Given the description of an element on the screen output the (x, y) to click on. 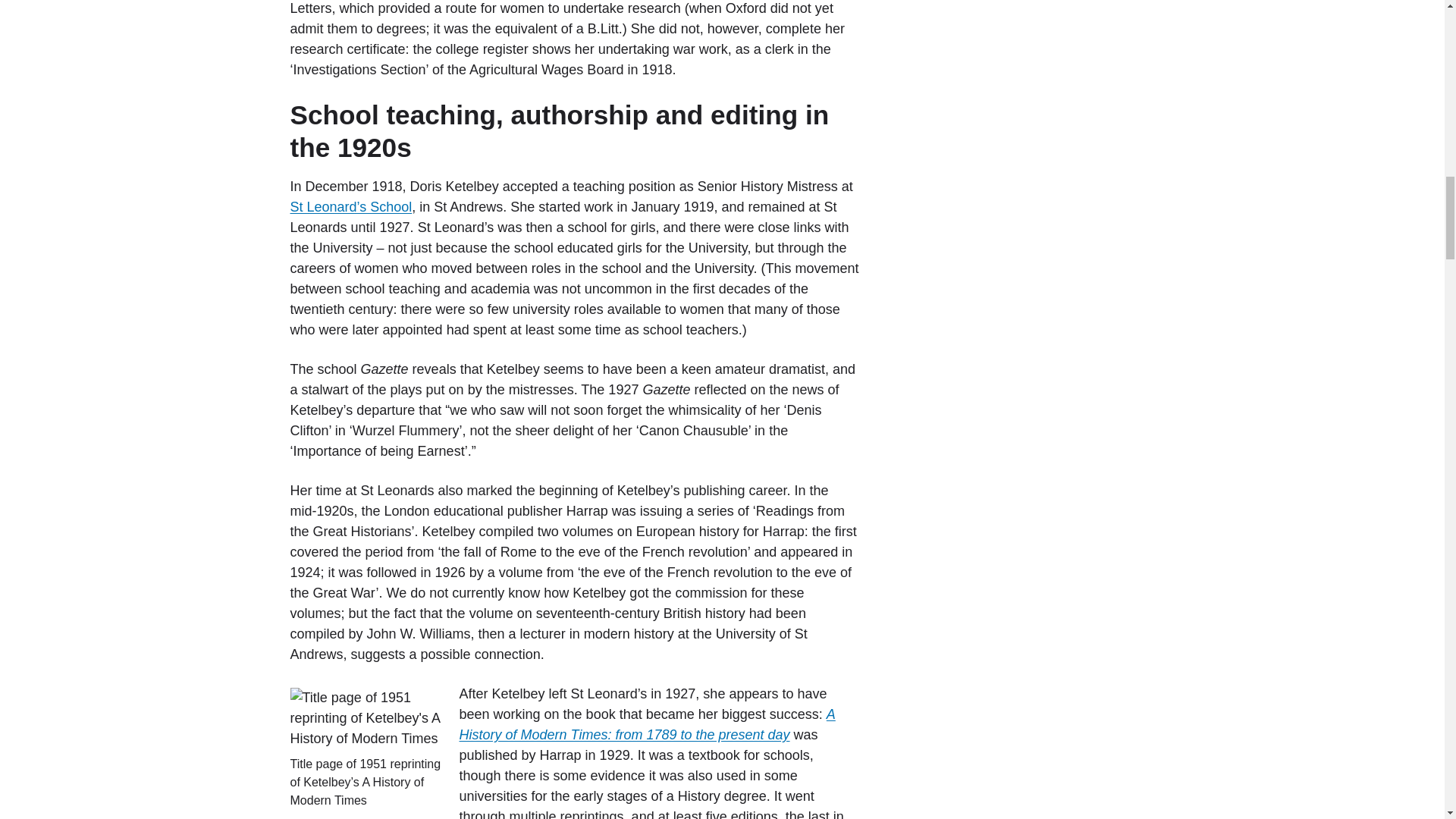
A History of Modern Times: from 1789 to the present day (647, 724)
